Given the description of an element on the screen output the (x, y) to click on. 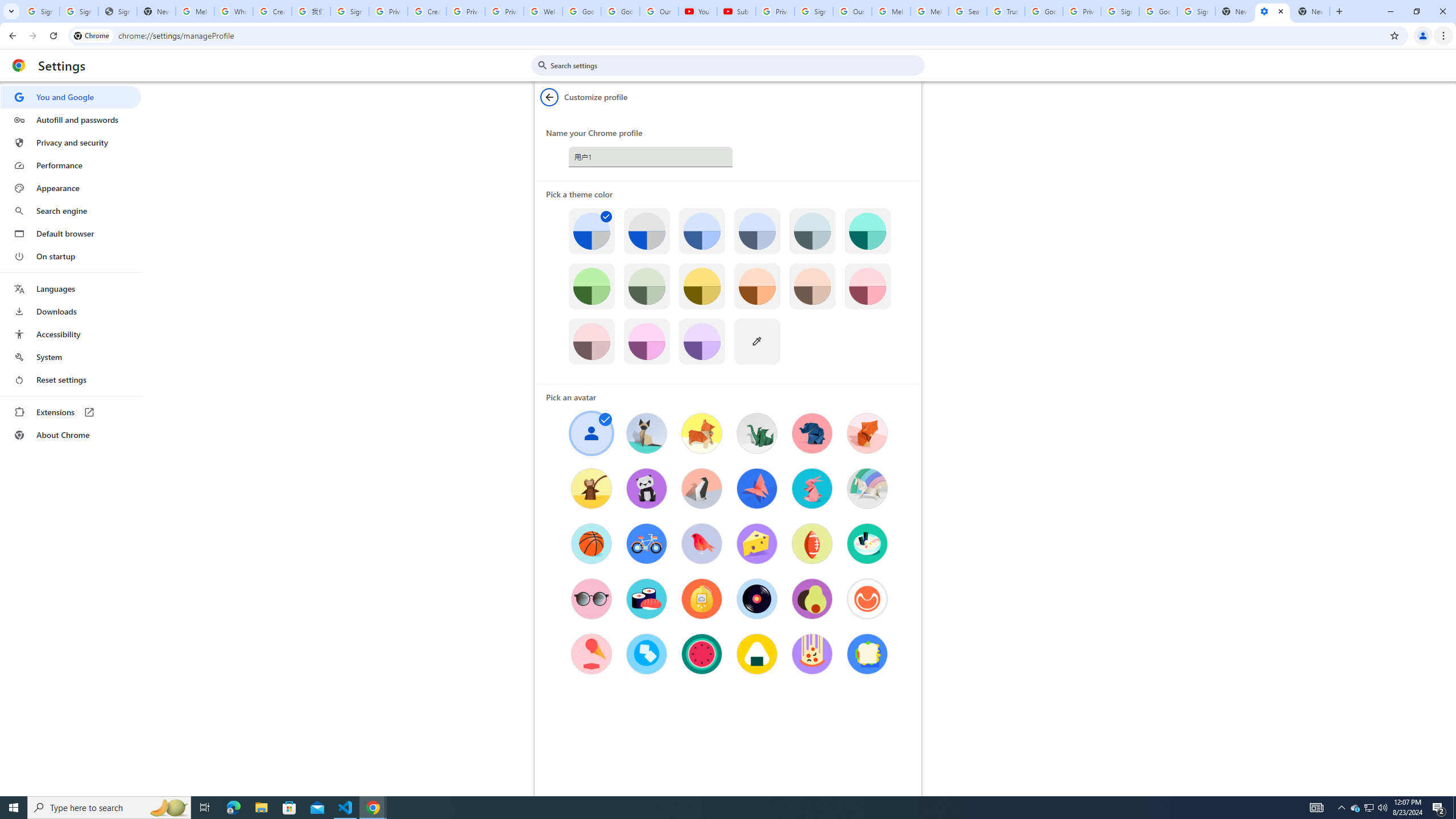
Sign in - Google Accounts (1196, 11)
Extensions (70, 412)
On startup (70, 255)
Languages (70, 288)
Google Account (620, 11)
Privacy and security (70, 142)
Welcome to My Activity (542, 11)
You and Google (70, 96)
Reset settings (70, 379)
Who is my administrator? - Google Account Help (233, 11)
